Given the description of an element on the screen output the (x, y) to click on. 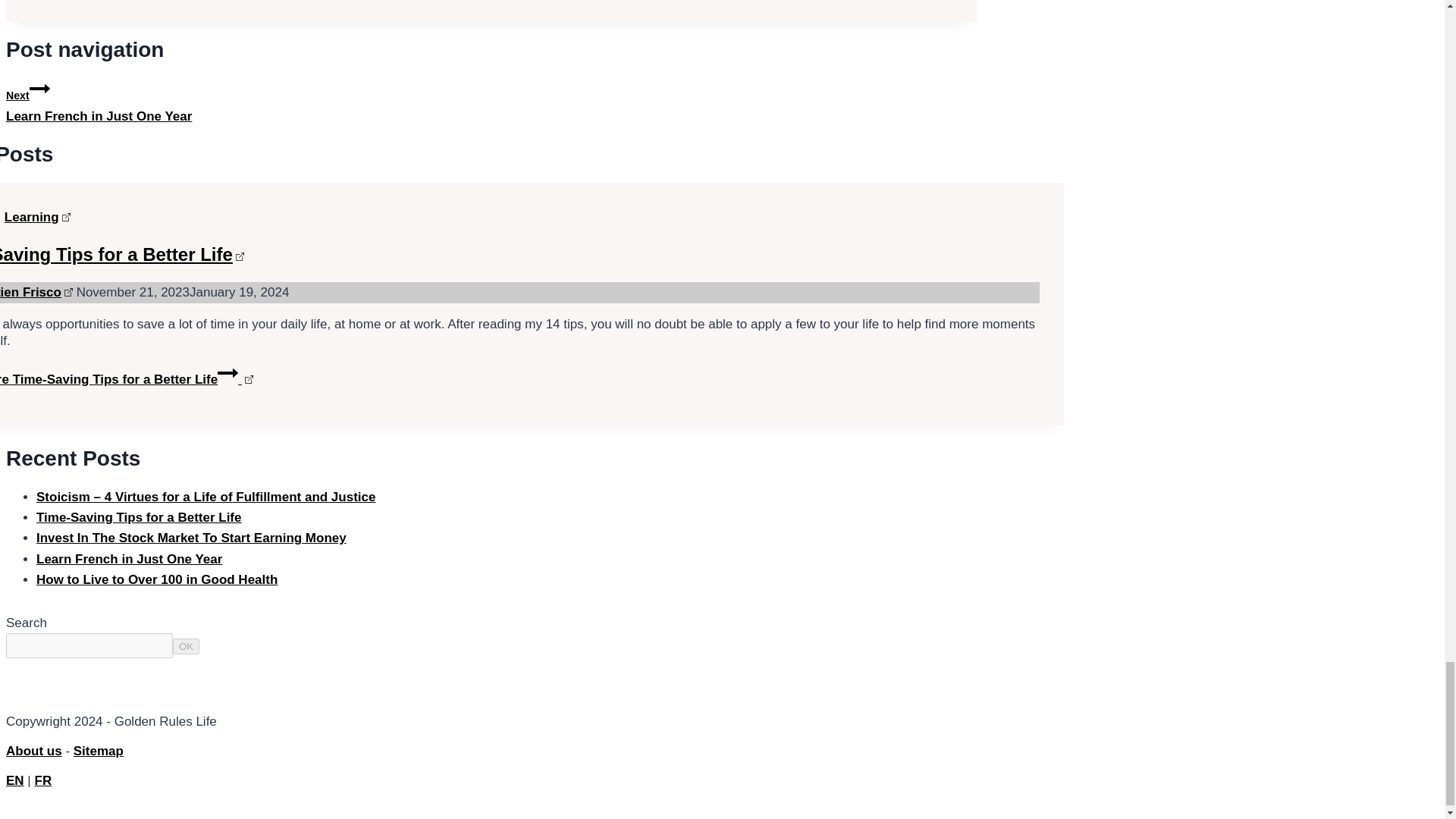
Read More Time-Saving Tips for a Better LifeContinue (126, 379)
FR (43, 780)
Time-Saving Tips for a Better Life (122, 254)
Sebastien Frisco (36, 292)
How to Live to Over 100 in Good Health (157, 579)
OK (186, 646)
About us (33, 750)
Time-Saving Tips for a Better Life (138, 517)
Learning (36, 216)
Sitemap (98, 750)
Continue (39, 88)
Continue (227, 373)
Learn French in Just One Year (129, 559)
EN (14, 780)
